Given the description of an element on the screen output the (x, y) to click on. 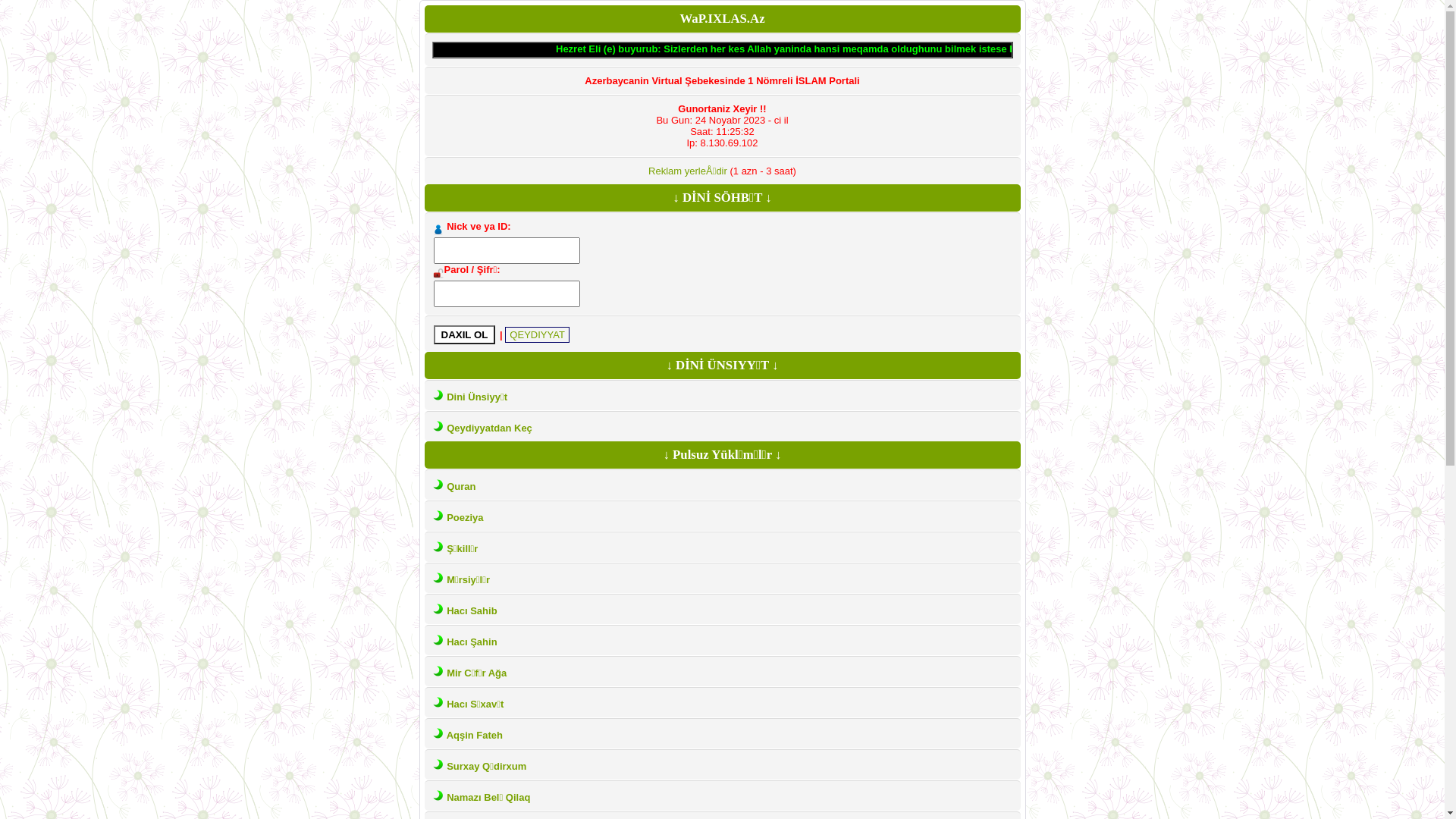
Parol Element type: hover (506, 293)
Quran Element type: text (460, 486)
Poeziya Element type: text (464, 517)
DAXIL OL Element type: text (464, 334)
QEYDIYYAT Element type: text (536, 334)
WaP.IXLAS.Az Element type: text (721, 18)
nick Element type: hover (506, 250)
